Given the description of an element on the screen output the (x, y) to click on. 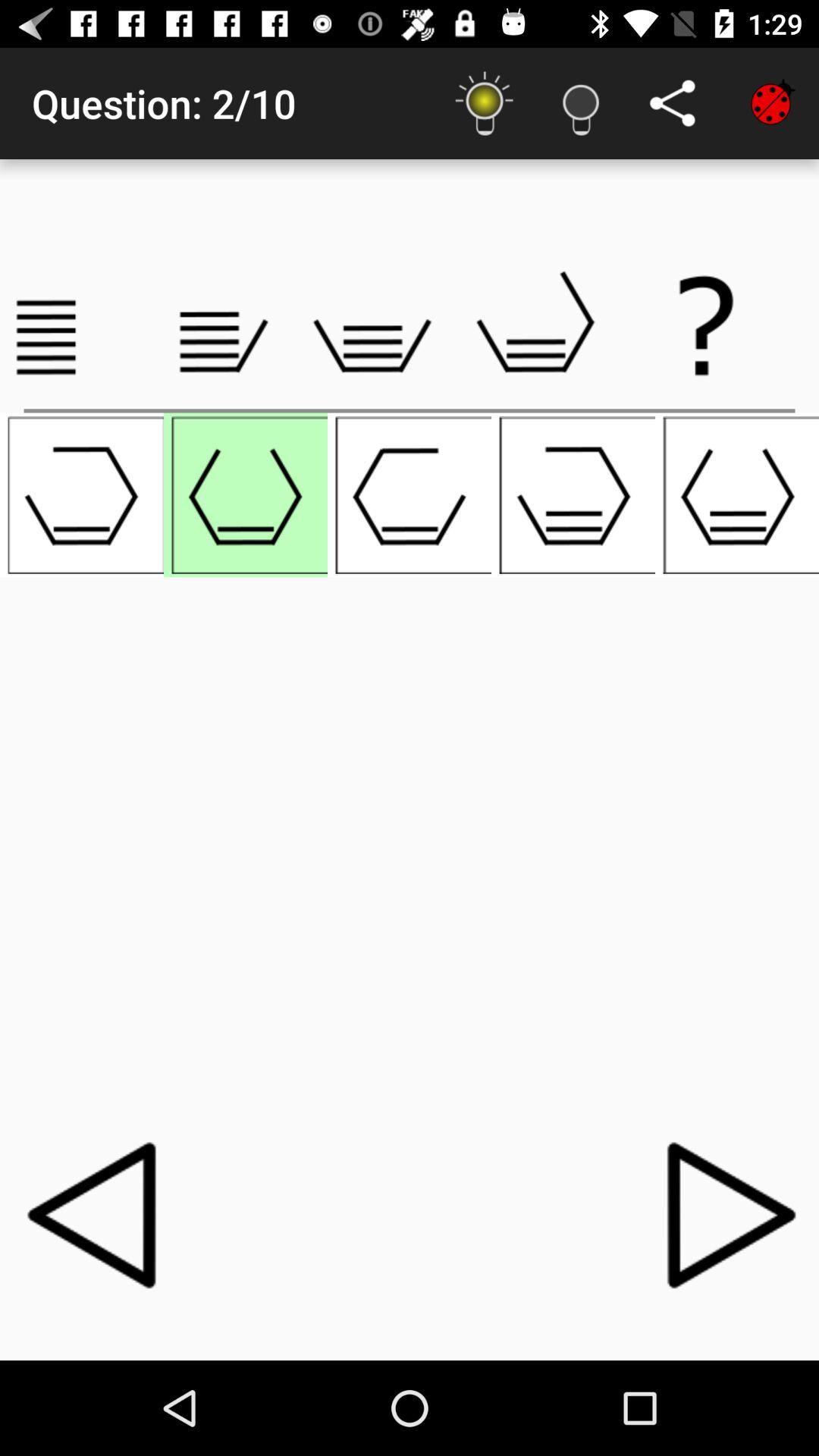
tap the icon at the bottom left corner (95, 1213)
